Given the description of an element on the screen output the (x, y) to click on. 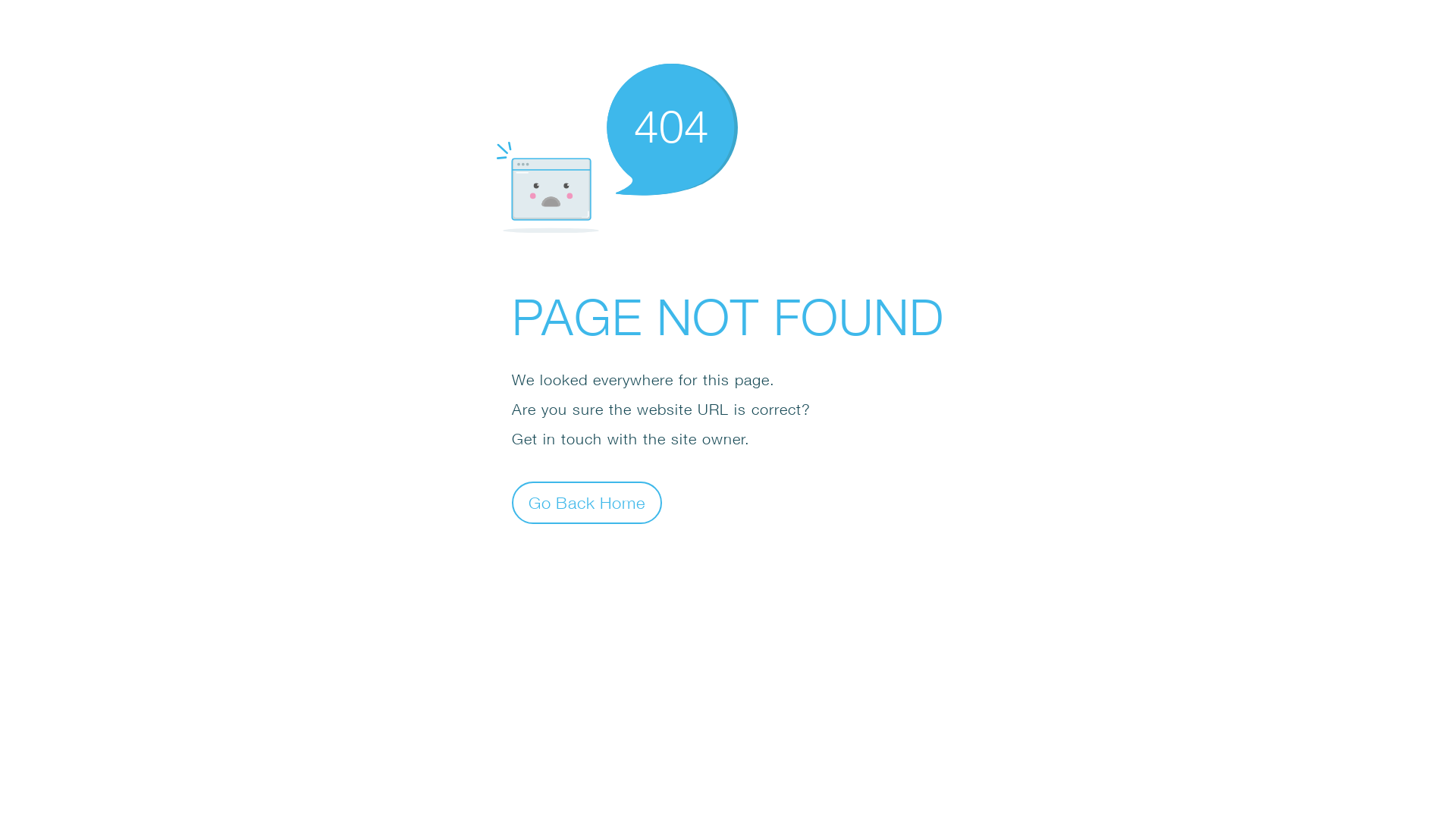
Go Back Home Element type: text (586, 502)
